Given the description of an element on the screen output the (x, y) to click on. 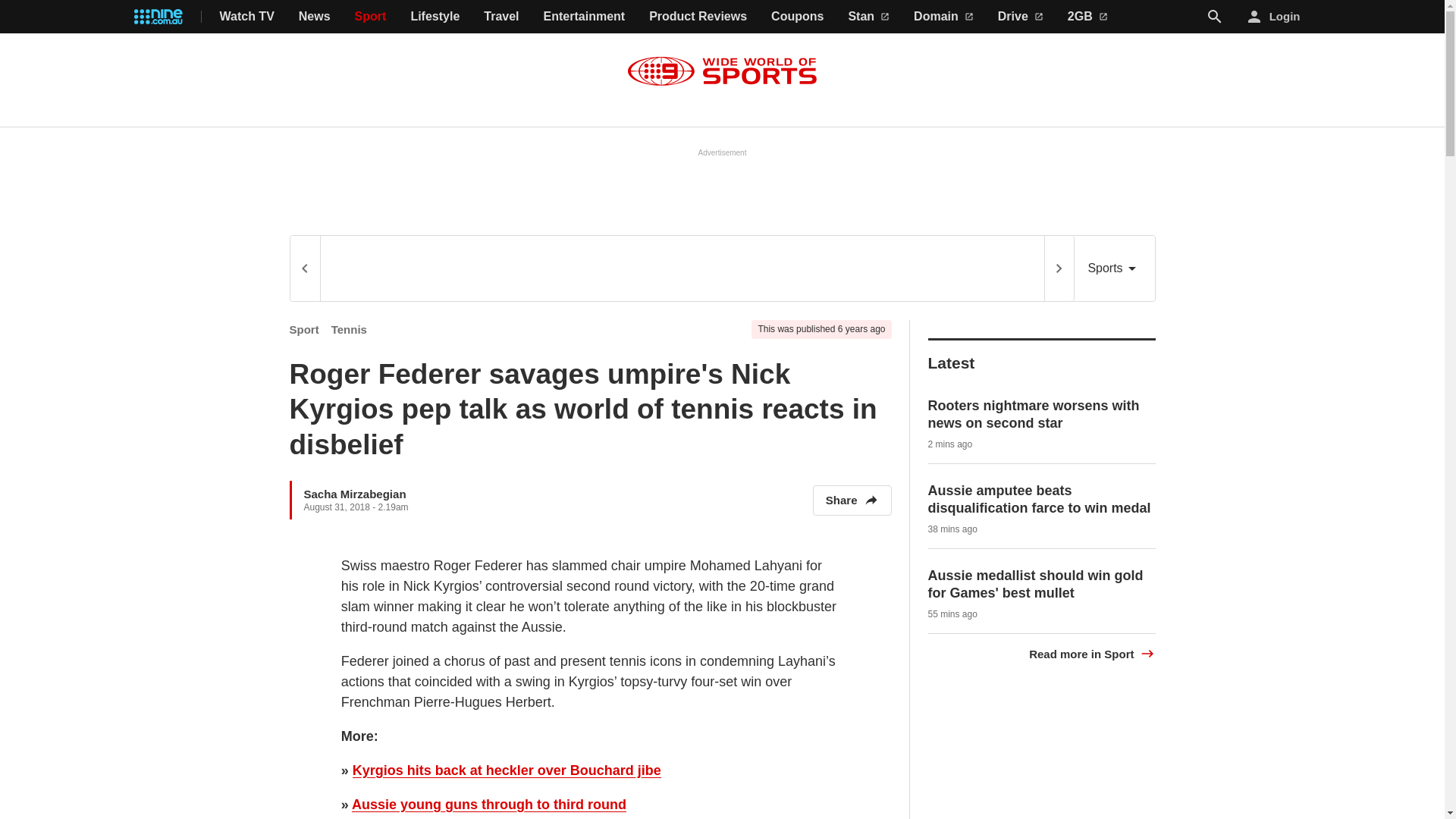
Drive (1020, 16)
Login (1273, 16)
Product Reviews (697, 16)
Search (1214, 16)
Lifestyle (435, 16)
Kyrgios hits back at heckler over Bouchard jibe (506, 770)
Sport (371, 16)
Stan (868, 16)
Sacha Mirzabegian (354, 493)
Search (1214, 16)
